Given the description of an element on the screen output the (x, y) to click on. 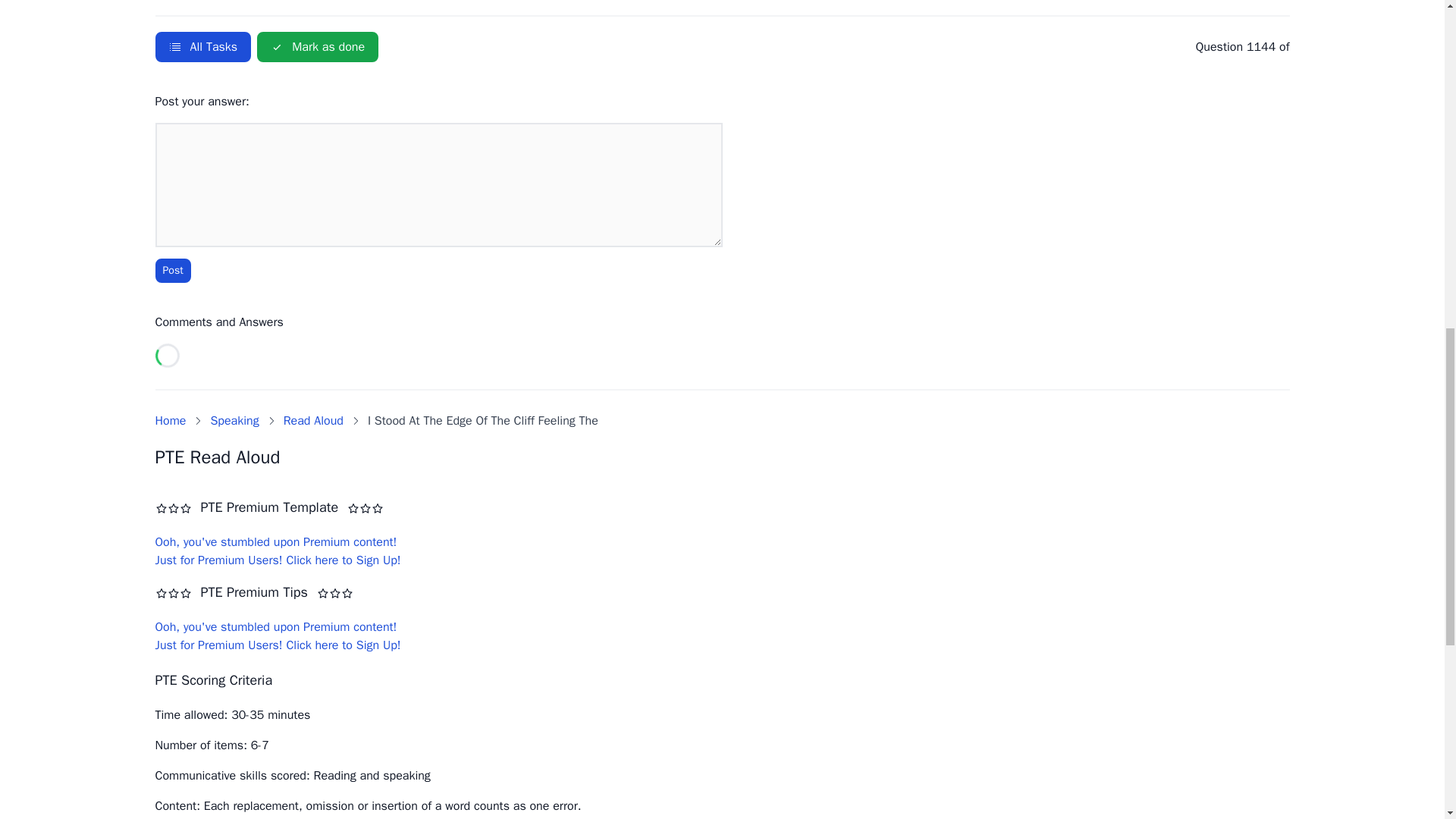
Post (172, 270)
Mark as done (317, 46)
All Tasks (202, 46)
